Given the description of an element on the screen output the (x, y) to click on. 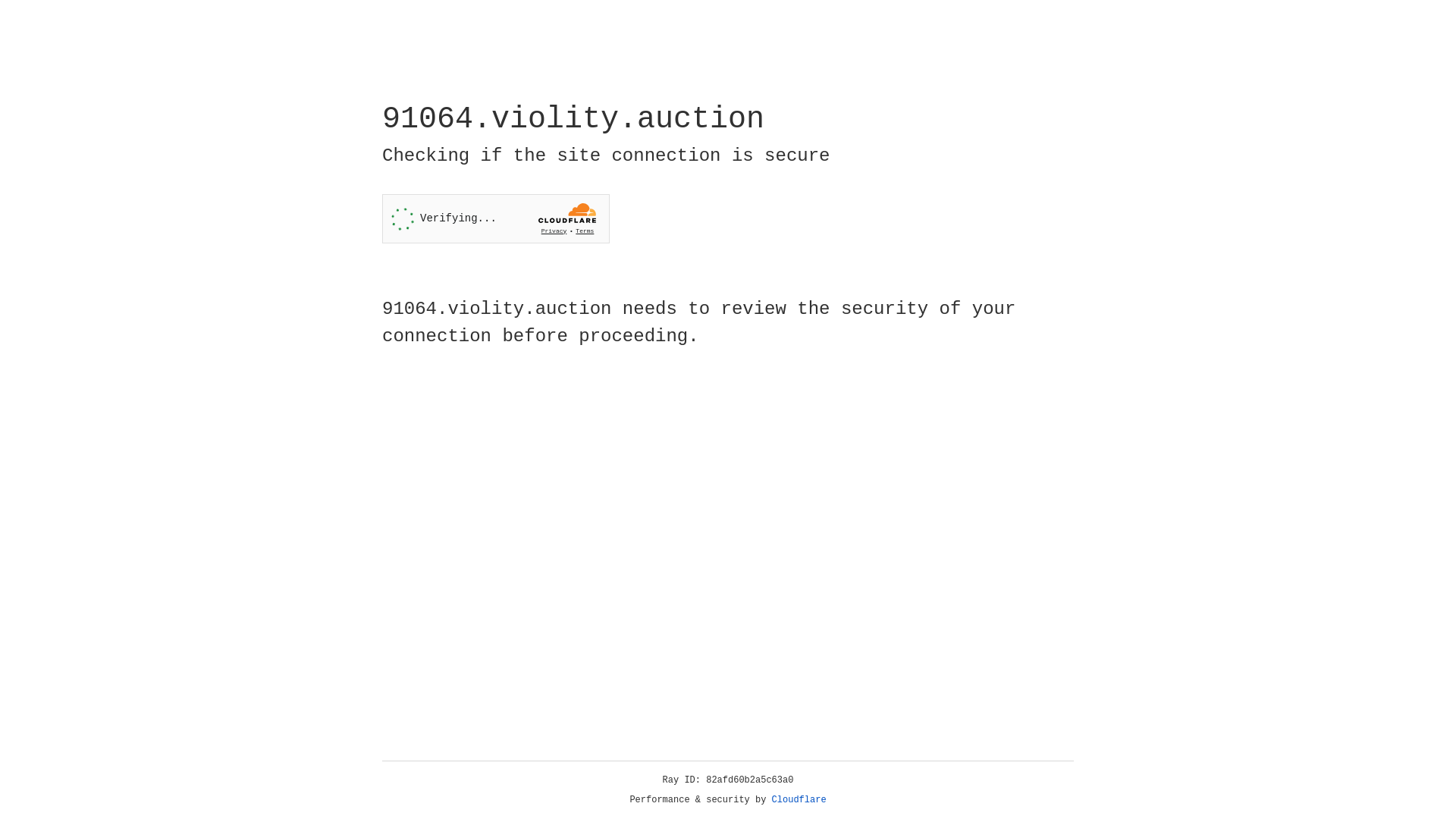
Widget containing a Cloudflare security challenge Element type: hover (495, 218)
Cloudflare Element type: text (798, 799)
